Given the description of an element on the screen output the (x, y) to click on. 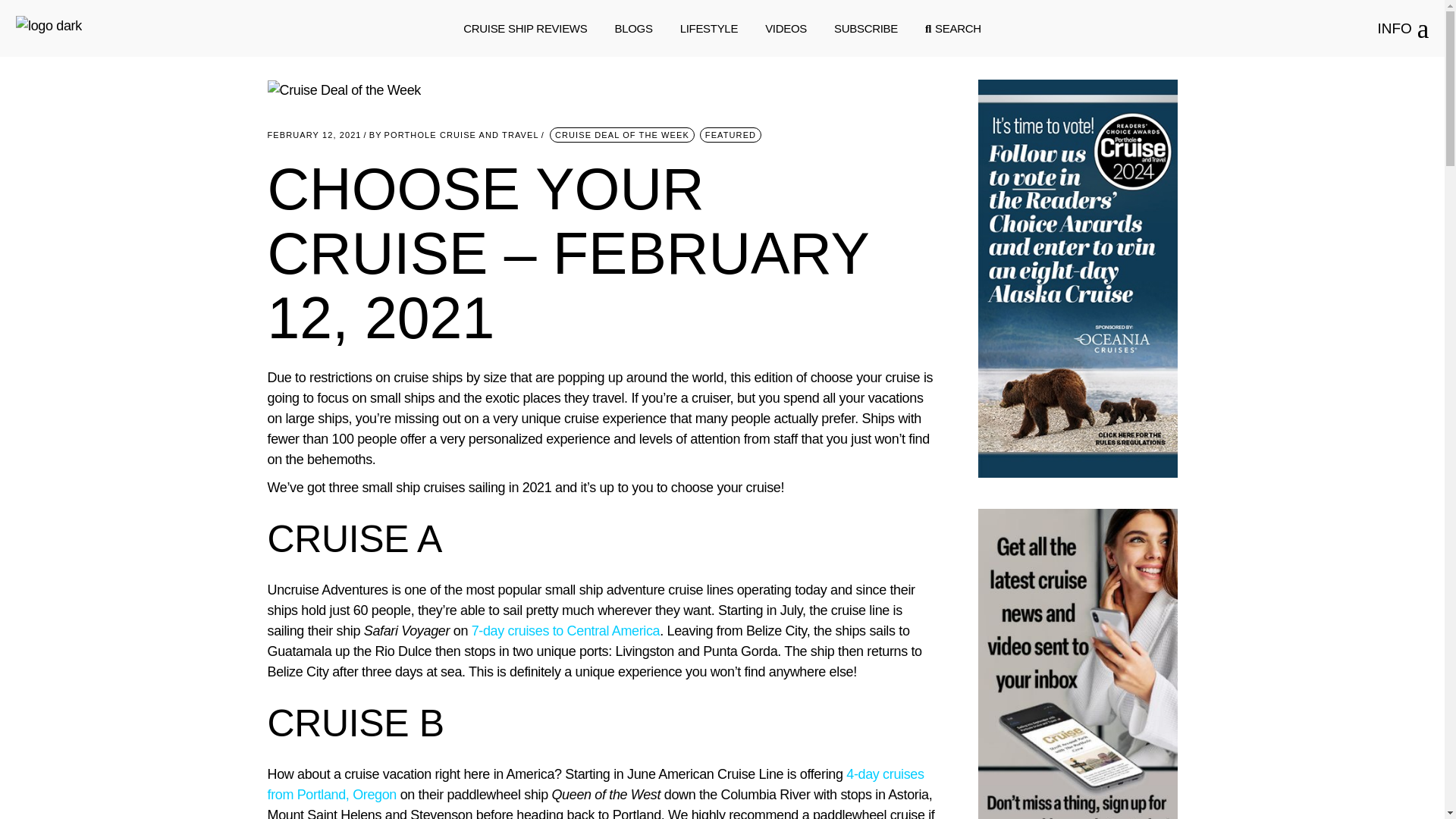
CRUISE SHIP REVIEWS (524, 28)
LIFESTYLE (708, 28)
SEARCH (952, 28)
SUBSCRIBE (866, 28)
INFO (1402, 28)
